Given the description of an element on the screen output the (x, y) to click on. 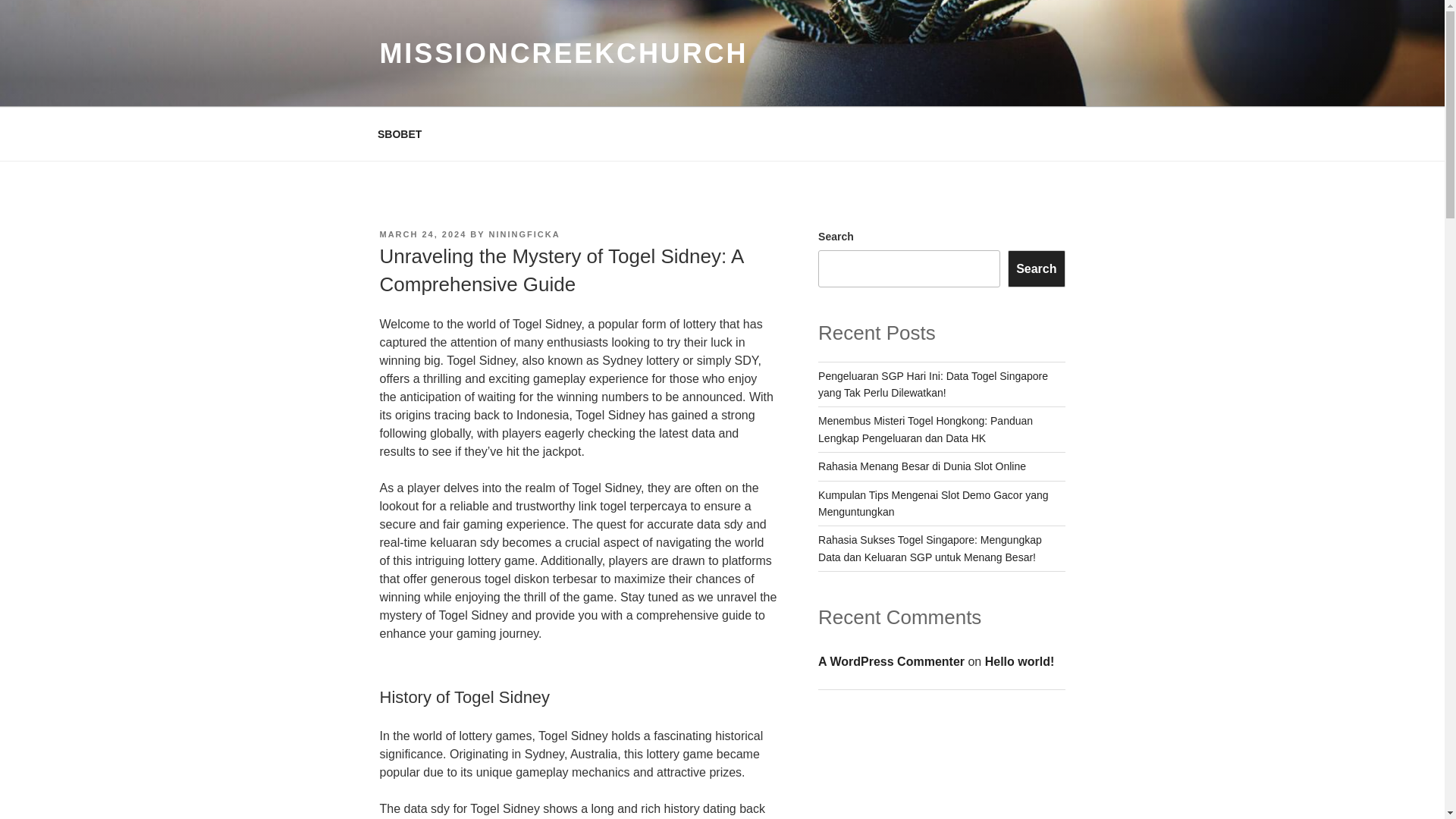
MISSIONCREEKCHURCH (563, 52)
NININGFICKA (524, 234)
A WordPress Commenter (890, 661)
MARCH 24, 2024 (421, 234)
Kumpulan Tips Mengenai Slot Demo Gacor yang Menguntungkan (933, 502)
Rahasia Menang Besar di Dunia Slot Online (922, 466)
Hello world! (1019, 661)
SBOBET (398, 133)
Search (1035, 268)
